Given the description of an element on the screen output the (x, y) to click on. 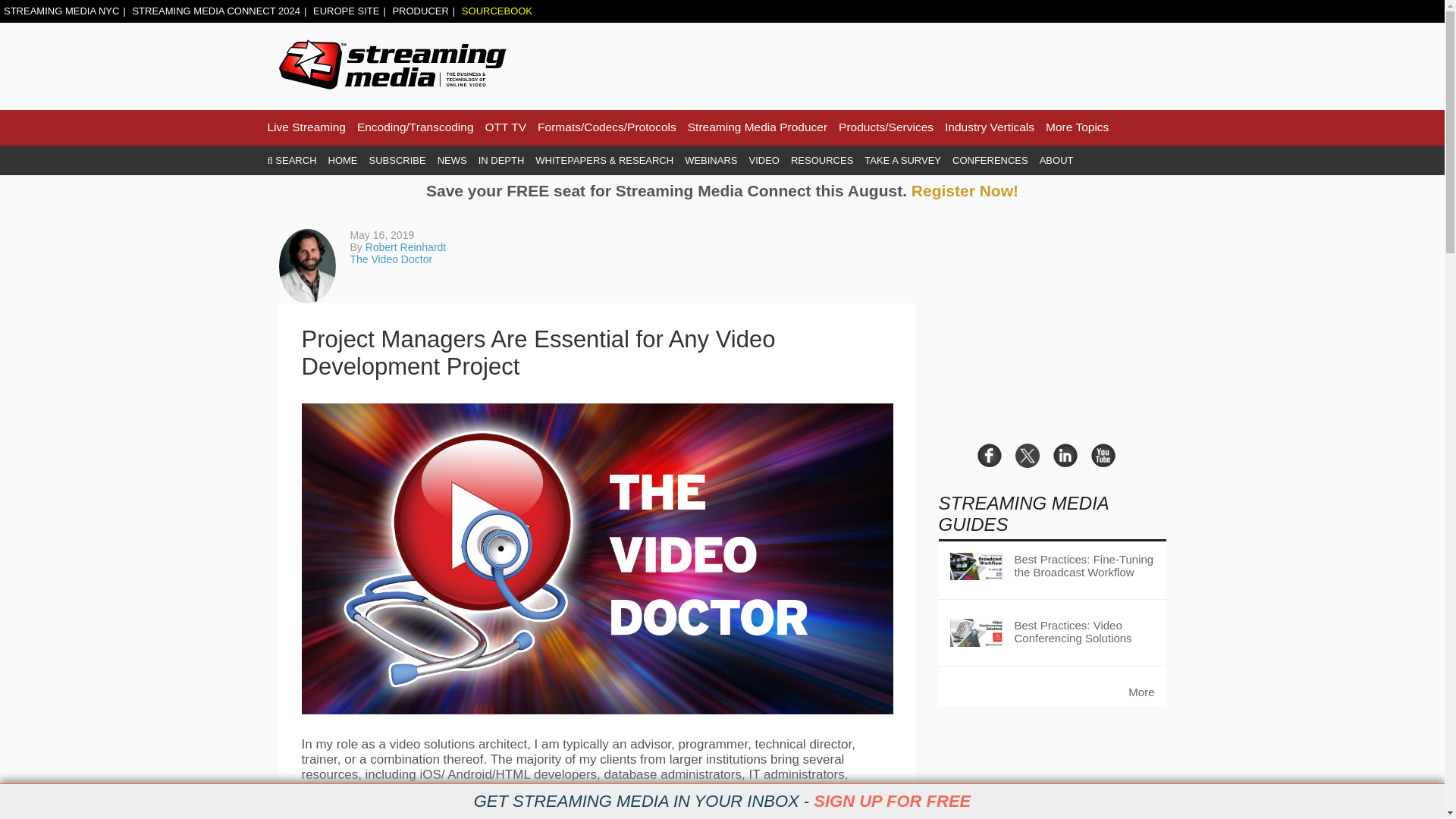
STREAMING MEDIA NYC (61, 10)
Industry Verticals (988, 127)
SOURCEBOOK (496, 10)
SUBSCRIBE (397, 160)
NEWS (452, 160)
STREAMING MEDIA CONNECT 2024 (215, 10)
Streaming Media Producer (757, 127)
OTT TV (505, 127)
PRODUCER (419, 10)
EUROPE SITE (345, 10)
Live Streaming (305, 127)
Live Streaming (305, 127)
GET STREAMING MEDIA IN YOUR INBOX - SIGN UP FOR FREE (722, 801)
Streaming Media Producer (757, 127)
 SEARCH (290, 160)
